Given the description of an element on the screen output the (x, y) to click on. 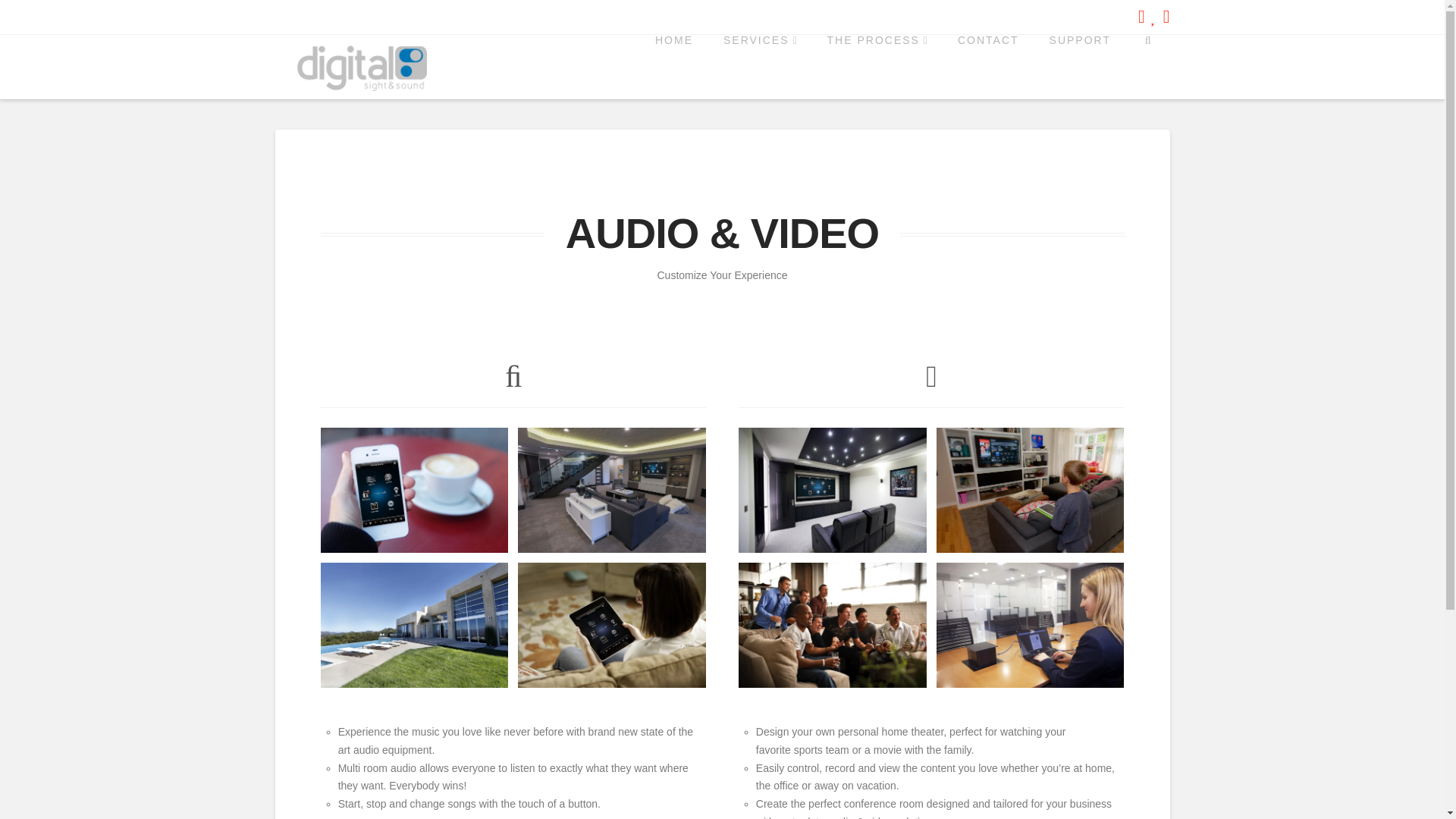
HOME (673, 67)
CONTACT (987, 67)
SERVICES (759, 67)
SUPPORT (1079, 67)
THE PROCESS (877, 67)
